Given the description of an element on the screen output the (x, y) to click on. 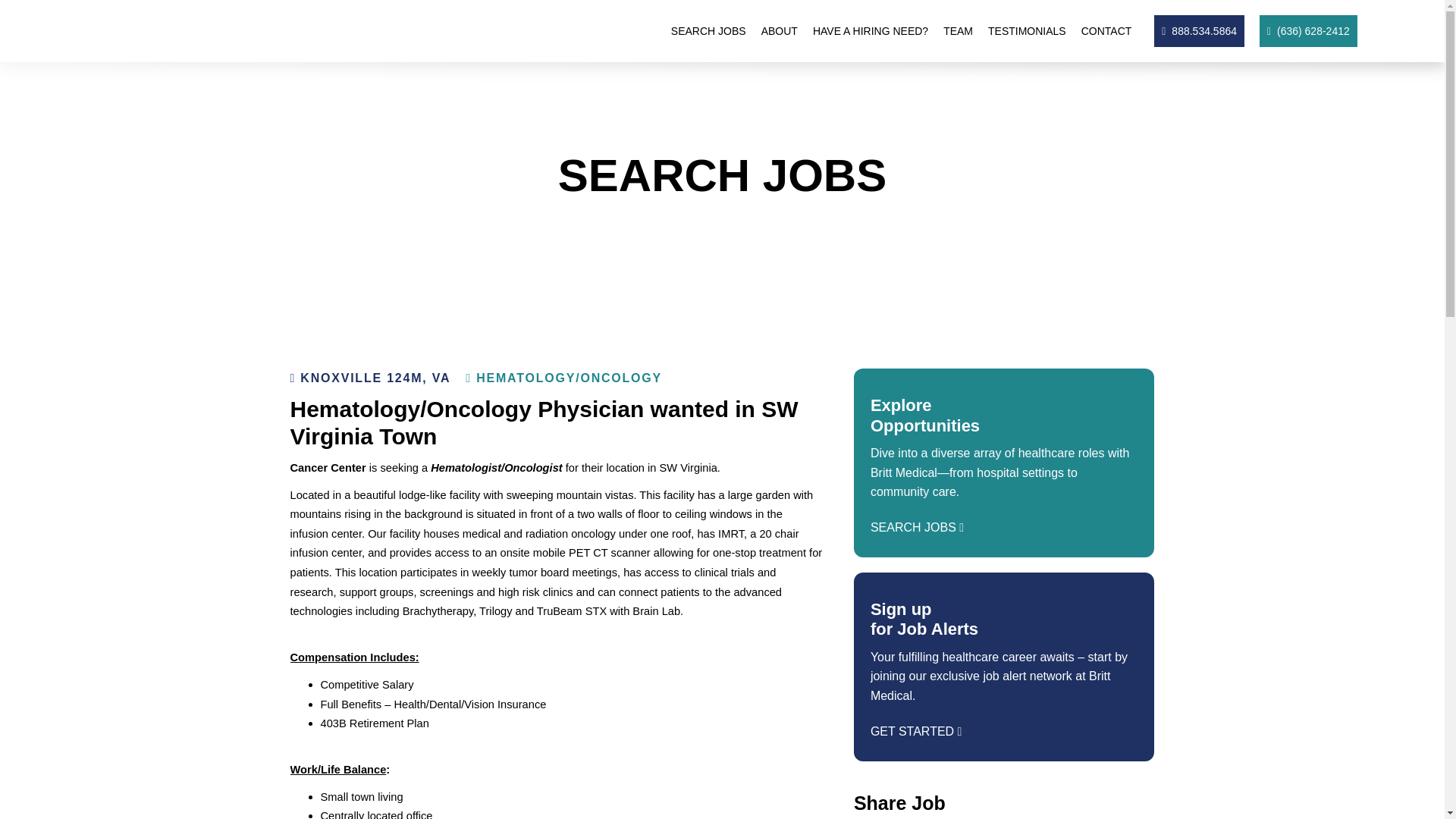
SEARCH JOBS (708, 30)
TEAM (957, 30)
ABOUT (779, 30)
HAVE A HIRING NEED? (870, 30)
888.534.5864 (1199, 30)
TESTIMONIALS (1026, 30)
CONTACT (1107, 30)
